Given the description of an element on the screen output the (x, y) to click on. 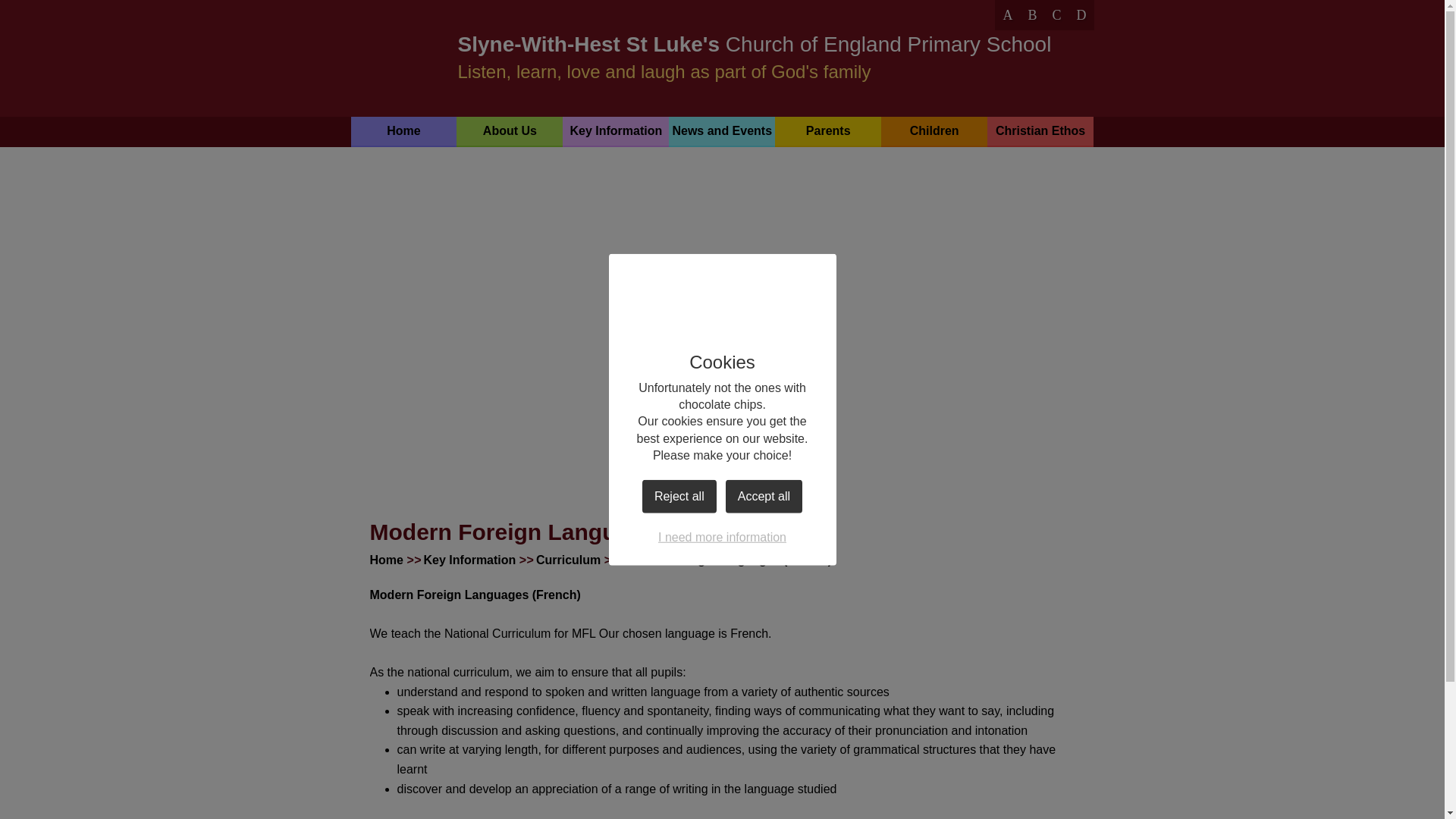
Key Information (615, 131)
About Us (509, 131)
Home Page (403, 57)
Home Page (403, 57)
Home (403, 131)
